Given the description of an element on the screen output the (x, y) to click on. 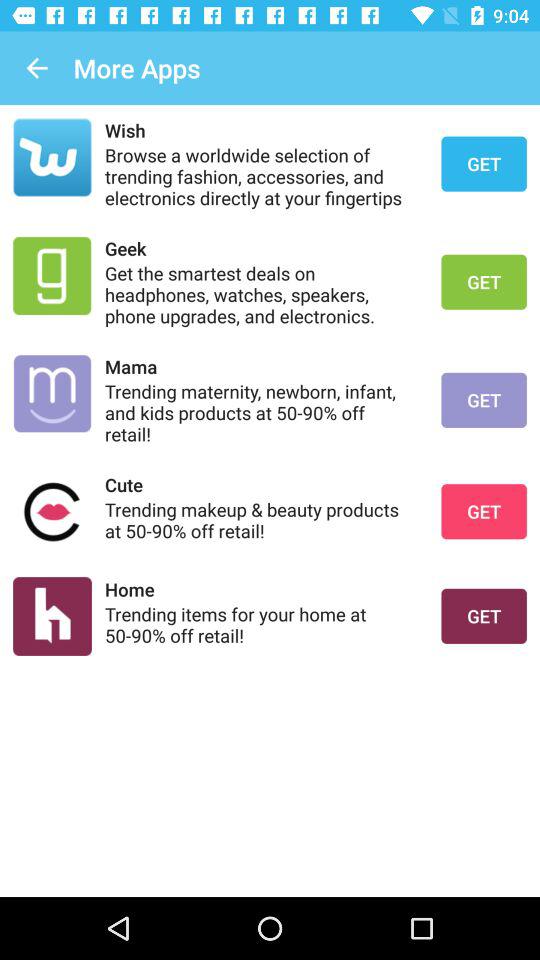
swipe until the trending makeup beauty (260, 520)
